Given the description of an element on the screen output the (x, y) to click on. 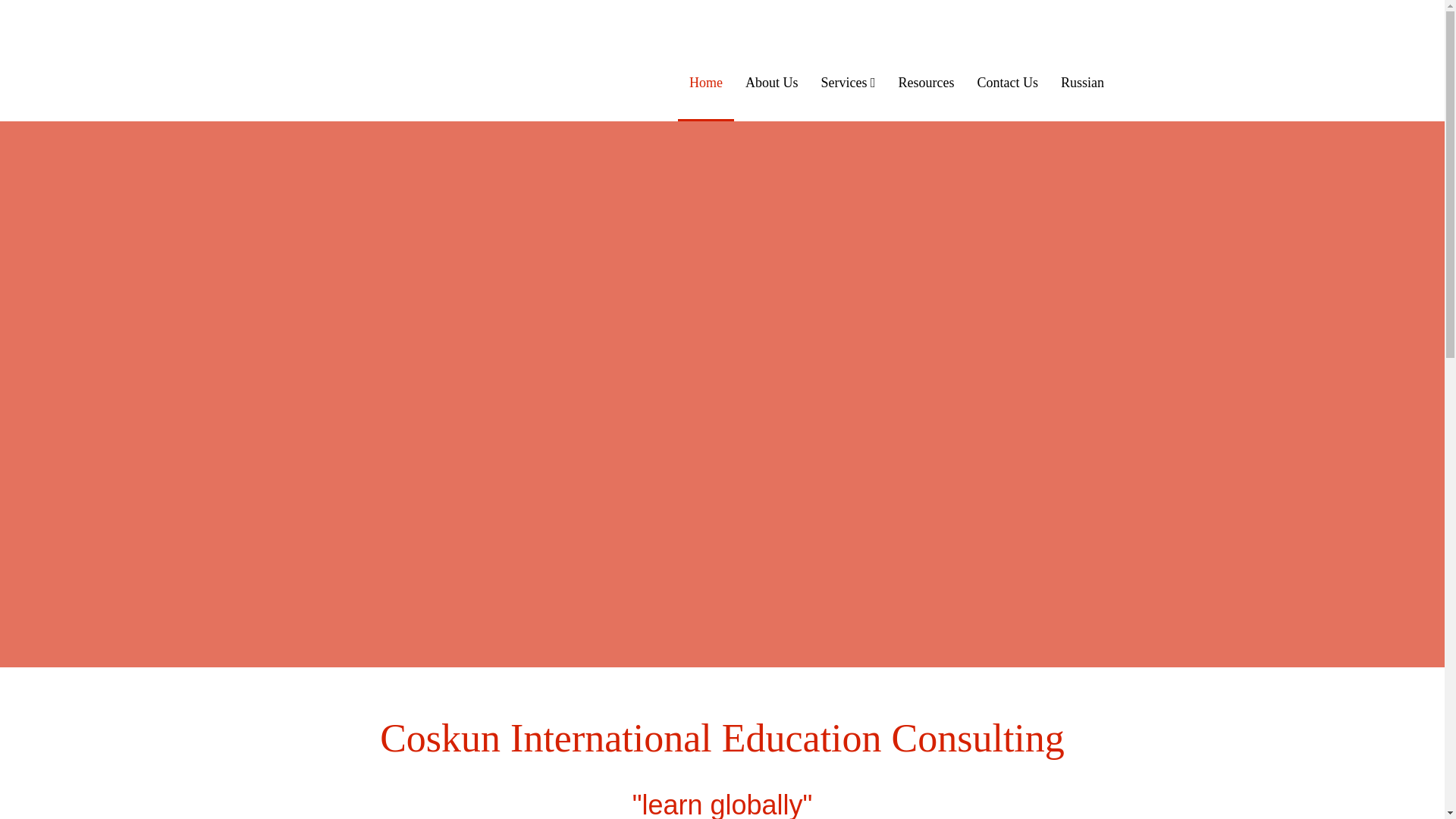
Services (848, 81)
Home (705, 81)
Home (705, 81)
About Us (771, 81)
Contact Us (1007, 81)
Services (848, 81)
About Us (771, 81)
Russian (1082, 81)
Resources (926, 81)
Russian (1082, 81)
Contact Us (1007, 81)
Resources (926, 81)
